Given the description of an element on the screen output the (x, y) to click on. 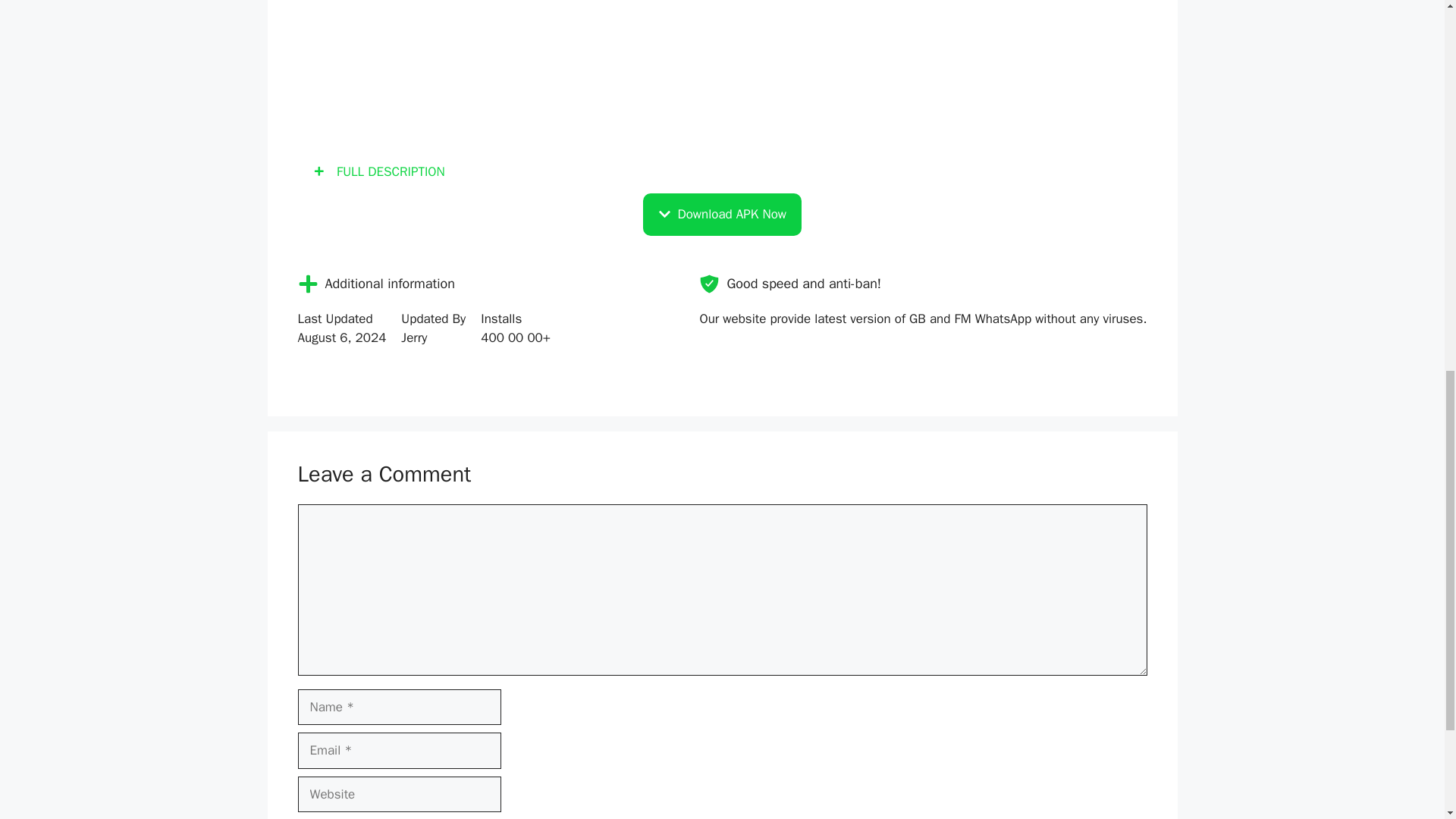
Download APK Now (722, 214)
ionicons-v5-s (708, 282)
FULL DESCRIPTION (722, 171)
Advertisement (736, 44)
